Given the description of an element on the screen output the (x, y) to click on. 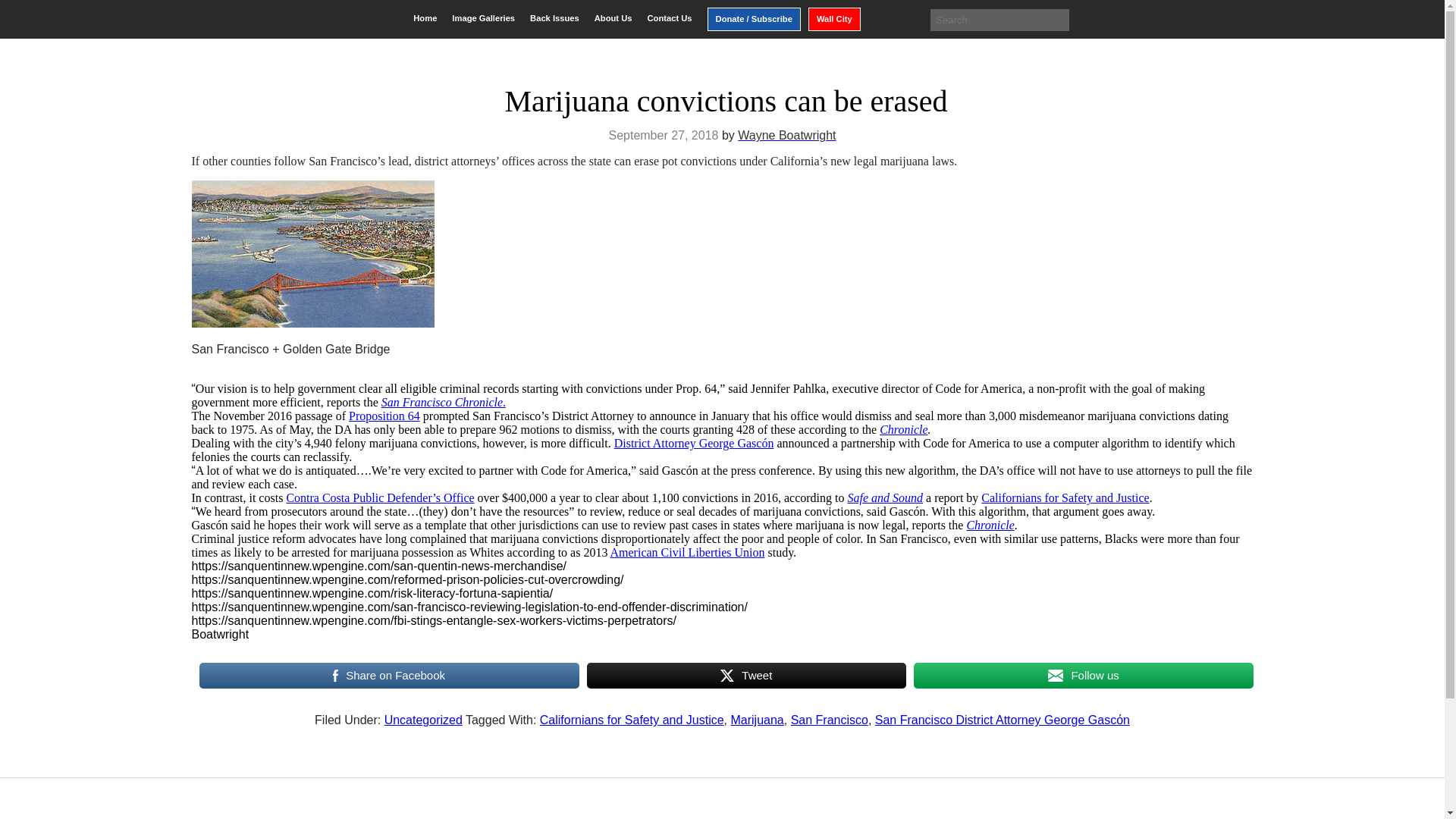
Safe and Sound (885, 497)
Californians for Safety and Justice (1064, 497)
Tweet (745, 675)
About Us (612, 17)
Proposition 64 (384, 415)
Marijuana (756, 719)
Wayne Boatwright (786, 134)
Share on Facebook (388, 675)
Californians for Safety and Justice (631, 719)
Image Galleries (483, 17)
